Given the description of an element on the screen output the (x, y) to click on. 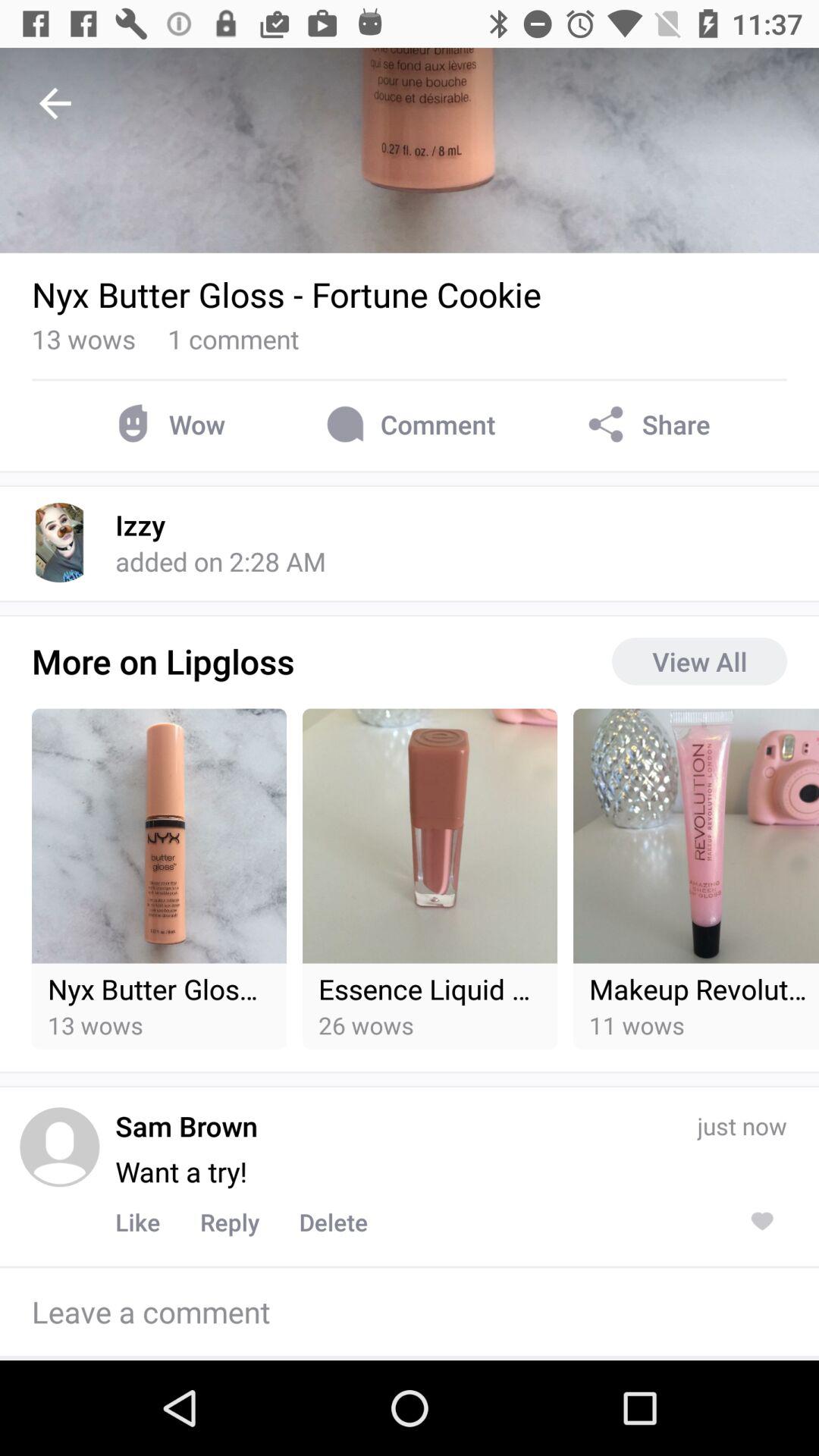
turn on the icon below want a try! item (229, 1221)
